Given the description of an element on the screen output the (x, y) to click on. 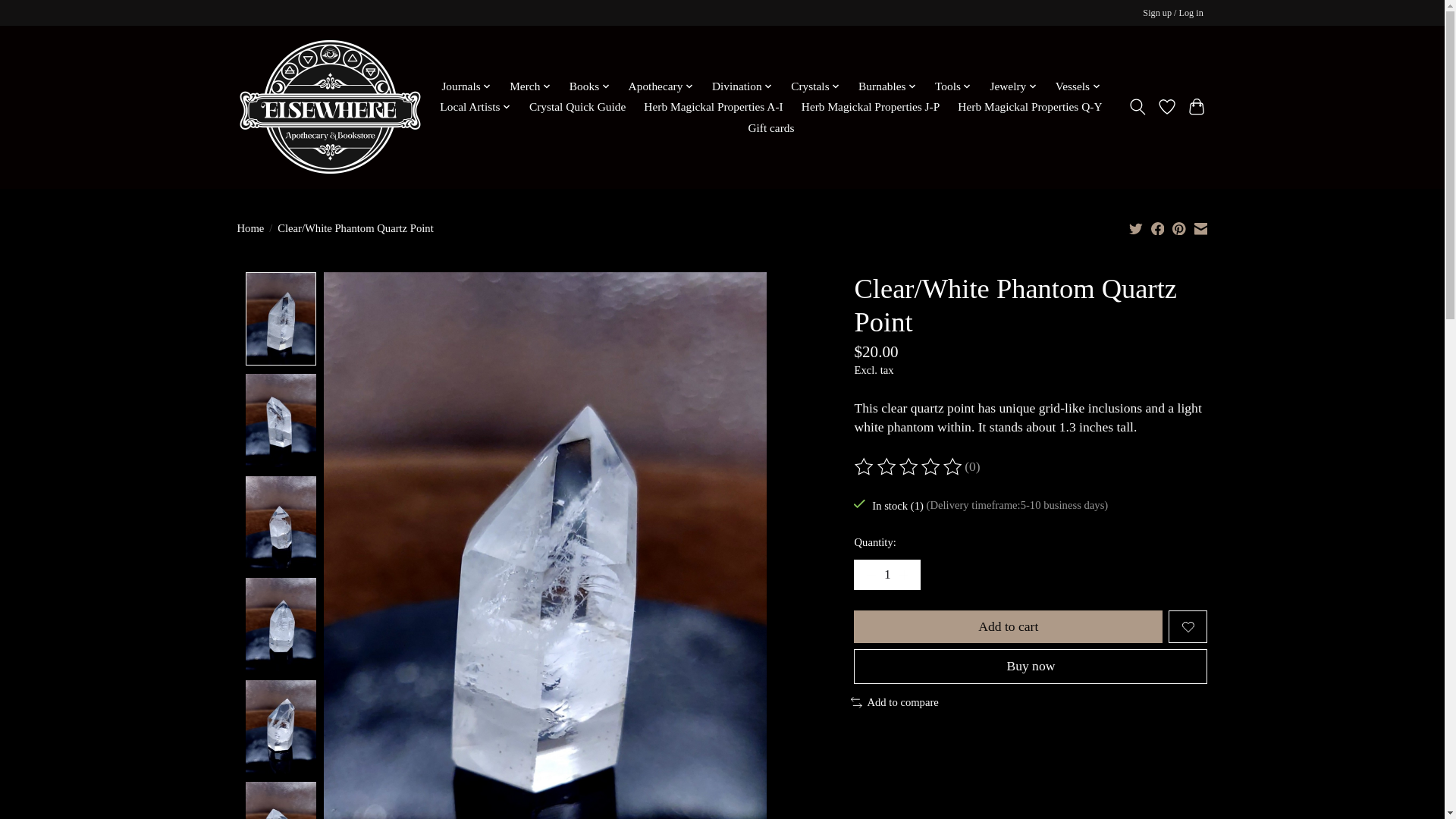
Apothecary (660, 86)
Journals (465, 86)
Share by Email (1200, 228)
1 (886, 574)
Share on Facebook (1157, 228)
Elsewhere Apothecary and Bookstore (328, 106)
Crystals (815, 86)
My account (1173, 13)
Share on Pinterest (1178, 228)
Merch (529, 86)
Books (589, 86)
Divination (742, 86)
Share on Twitter (1135, 228)
